Given the description of an element on the screen output the (x, y) to click on. 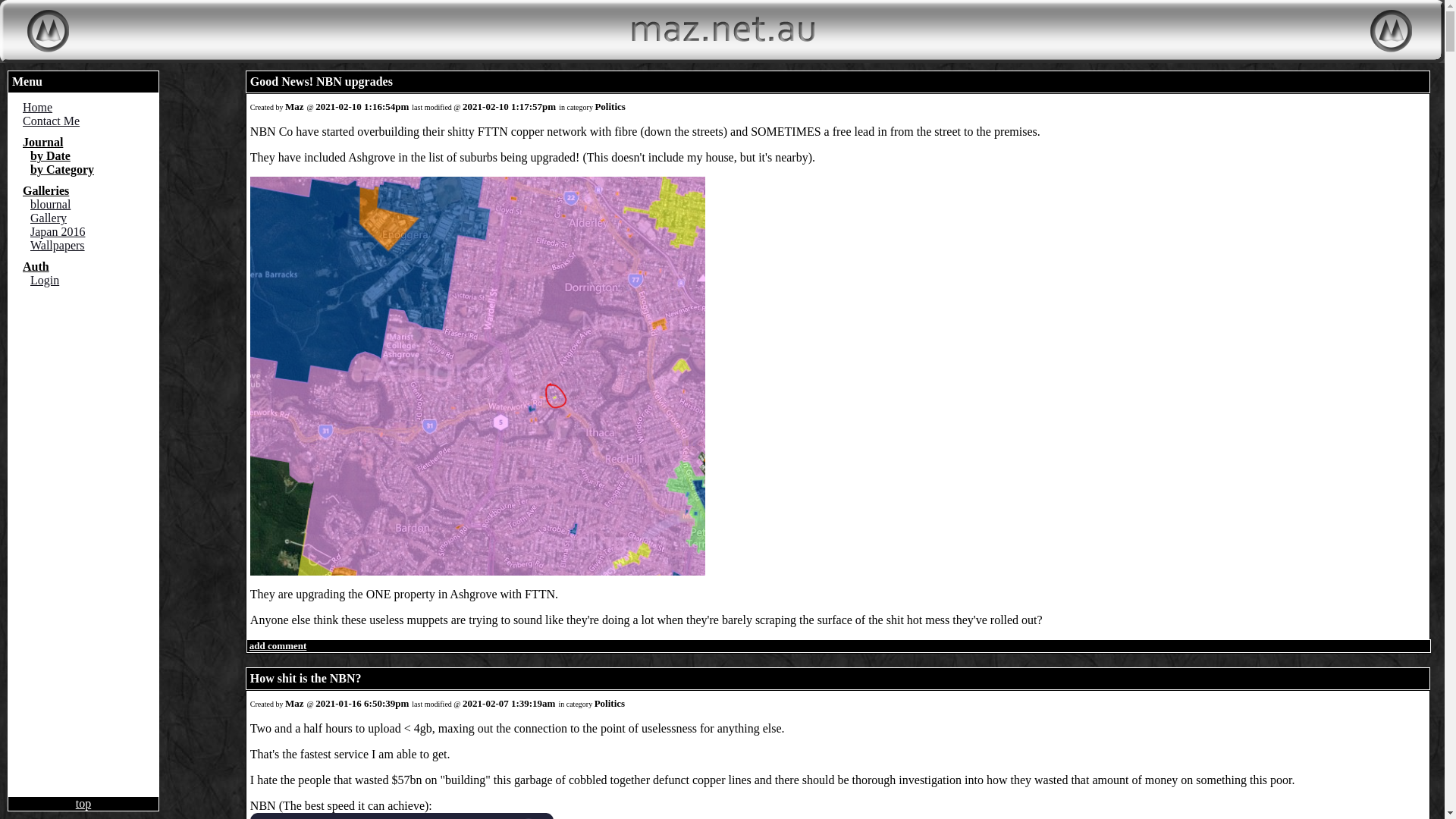
Gallery Element type: text (90, 218)
by Date Element type: text (50, 155)
blournal Element type: text (90, 204)
Japan 2016 Element type: text (90, 231)
add comment Element type: text (276, 645)
top Element type: text (83, 803)
Login Element type: text (90, 280)
by Category Element type: text (62, 169)
Home Element type: text (87, 107)
How shit is the NBN? Element type: text (305, 677)
Journal Element type: text (42, 141)
Good News! NBN upgrades Element type: text (321, 81)
Galleries Element type: text (45, 190)
Contact Me Element type: text (87, 121)
Wallpapers Element type: text (90, 245)
Auth Element type: text (35, 266)
